Given the description of an element on the screen output the (x, y) to click on. 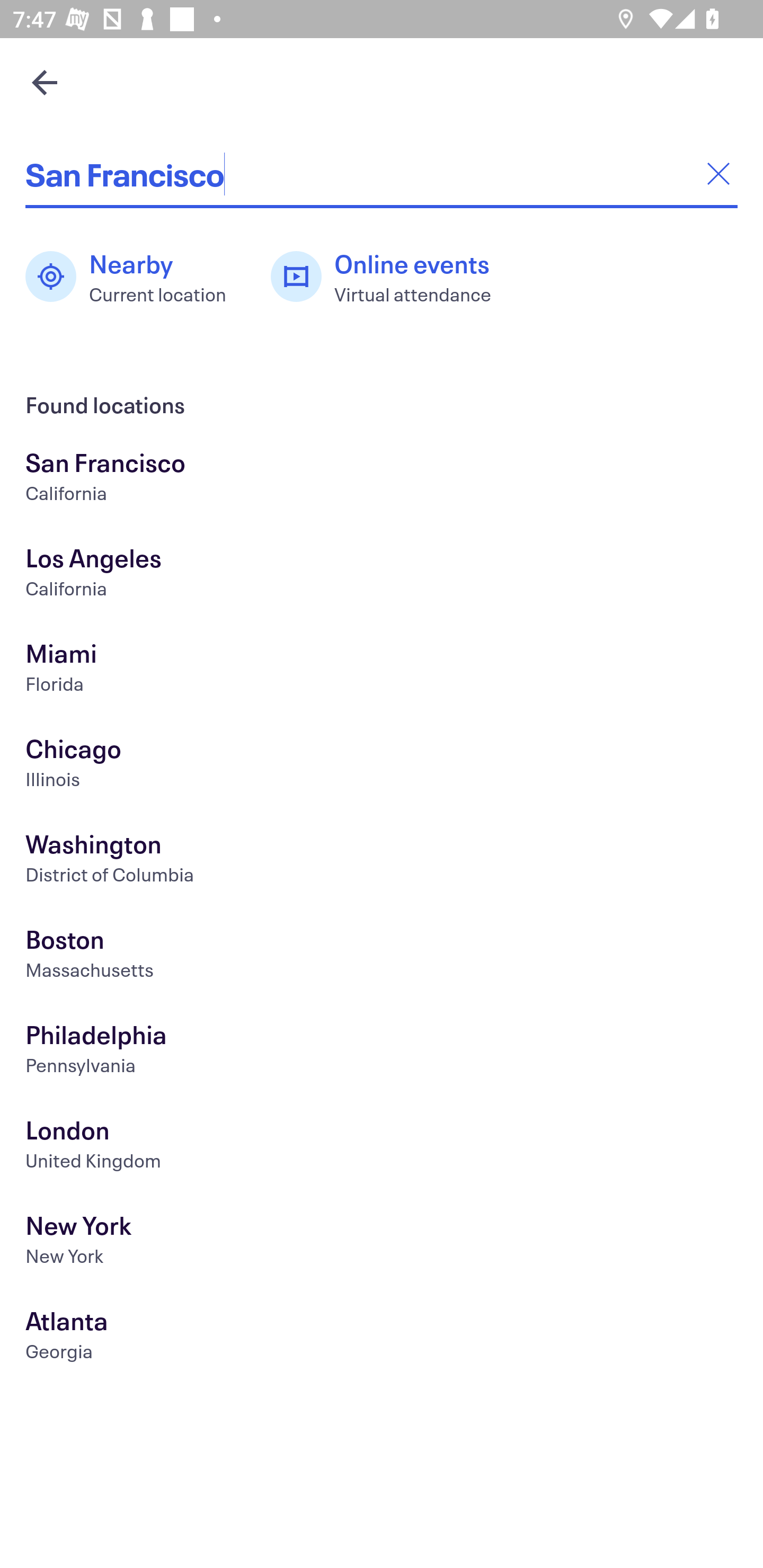
Navigate up (44, 82)
San Francisco (381, 173)
Nearby Current location (135, 276)
Online events Virtual attendance (390, 276)
San Francisco California (381, 479)
Los Angeles California (381, 574)
Miami Florida (381, 670)
Chicago Illinois (381, 765)
Washington District of Columbia (381, 861)
Boston Massachusetts (381, 955)
Philadelphia Pennsylvania (381, 1051)
London United Kingdom (381, 1146)
New York (381, 1242)
Atlanta Georgia (381, 1338)
